Given the description of an element on the screen output the (x, y) to click on. 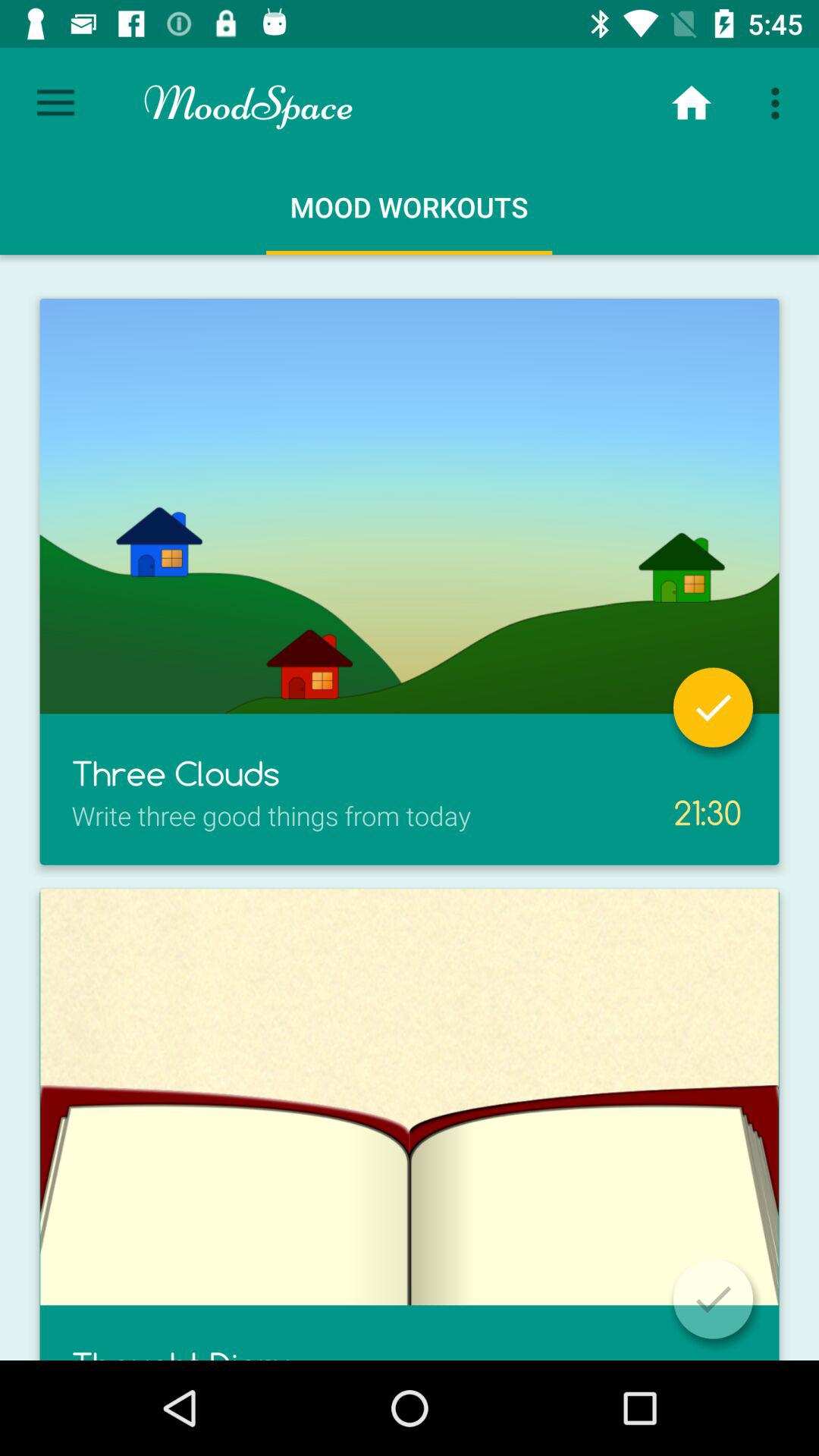
select/deselect item (713, 1298)
